Given the description of an element on the screen output the (x, y) to click on. 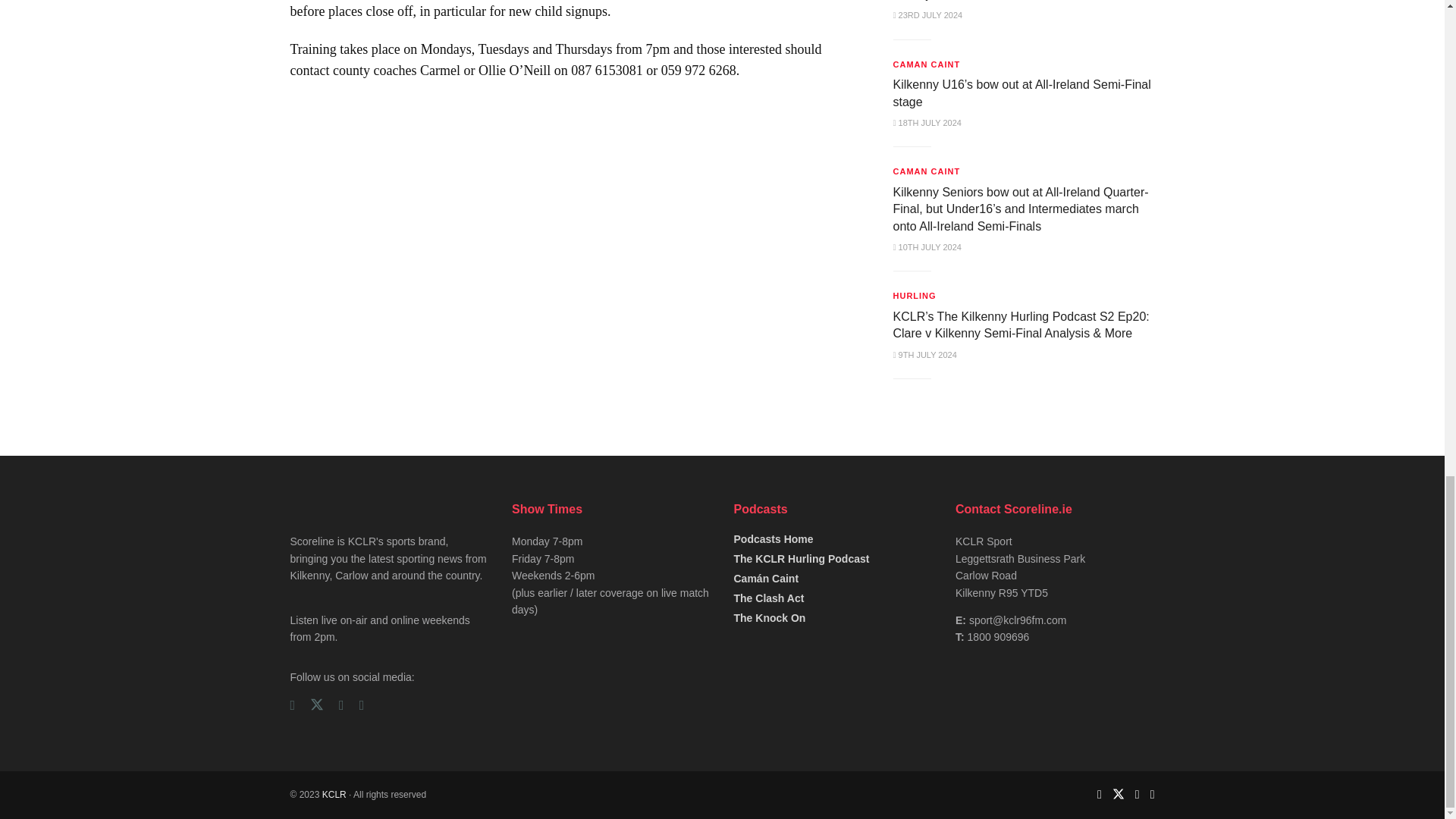
CAMAN CAINT (926, 64)
18TH JULY 2024 (926, 122)
23RD JULY 2024 (927, 14)
